Given the description of an element on the screen output the (x, y) to click on. 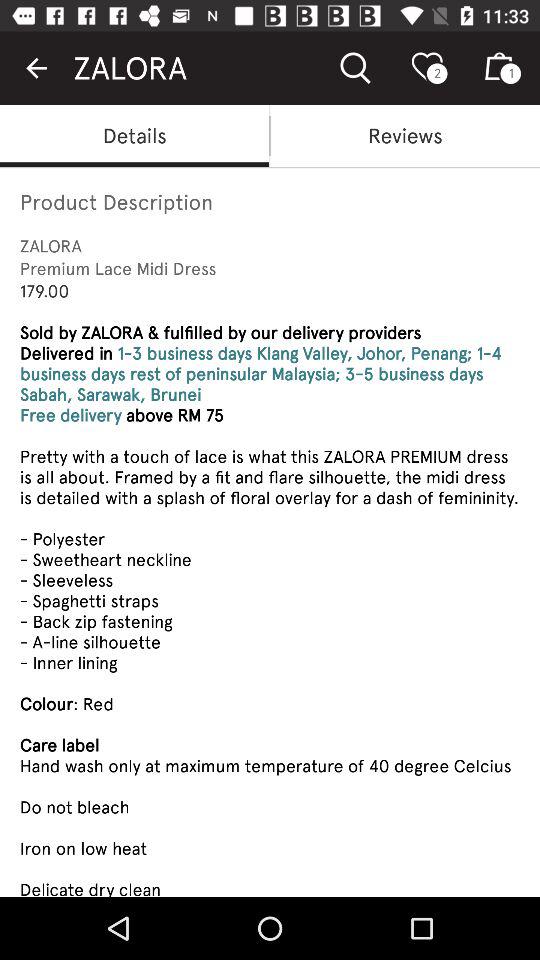
click reviews (405, 135)
